Given the description of an element on the screen output the (x, y) to click on. 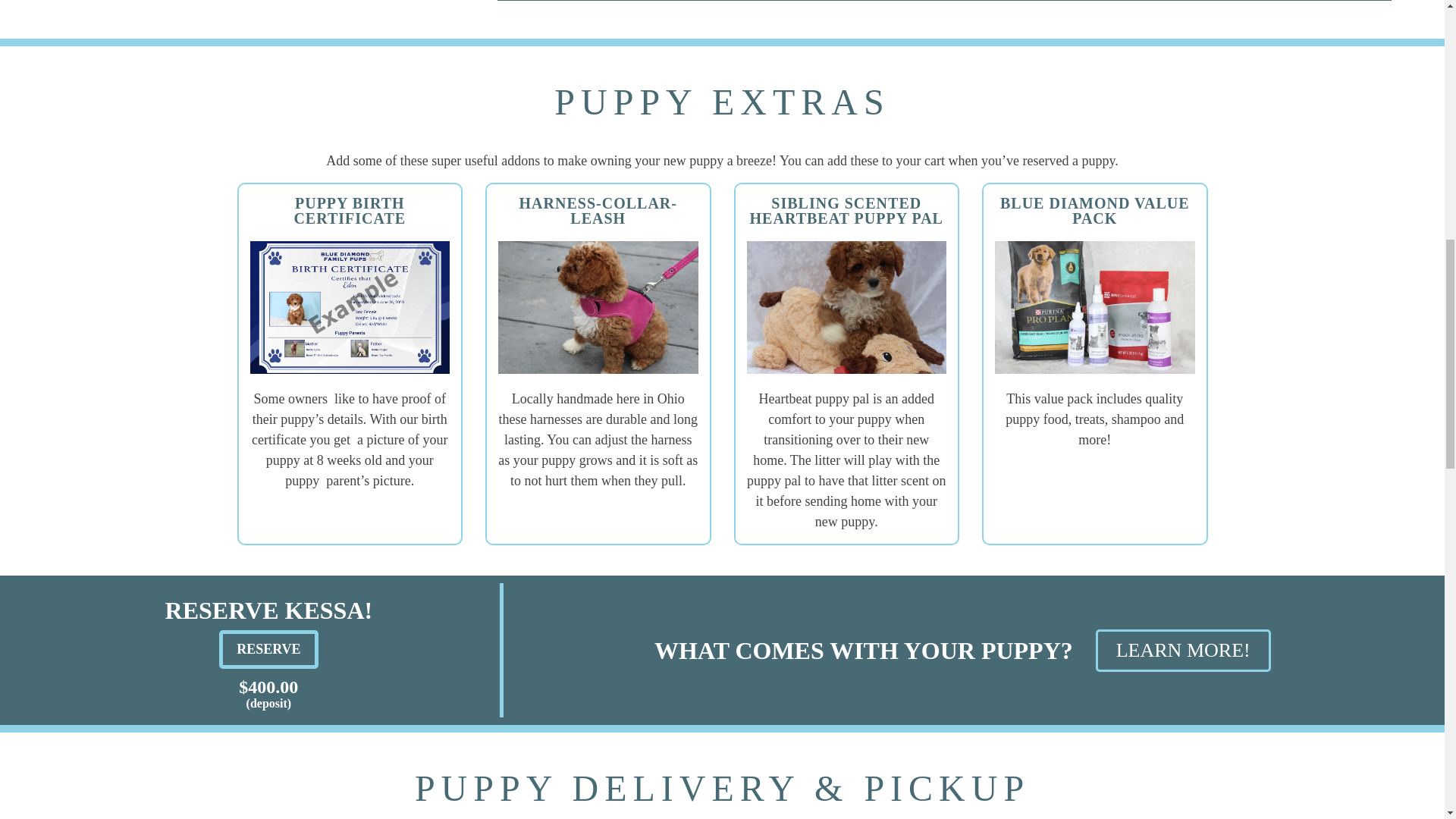
Birth-Certificate-Example - Blue Diamond Family Pups (349, 307)
